Given the description of an element on the screen output the (x, y) to click on. 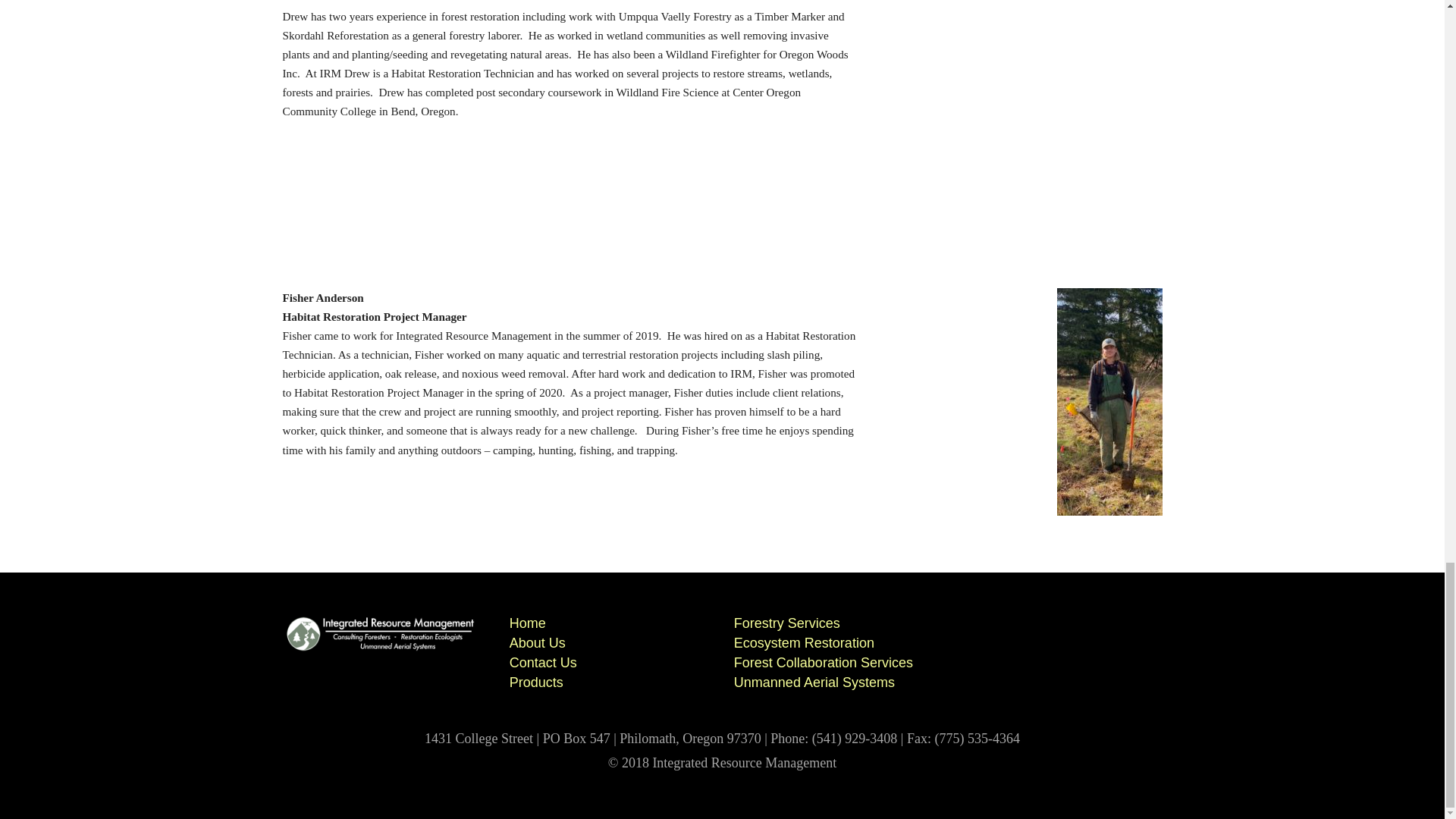
Integrated Resource Management (381, 647)
Integrated Resource Management (381, 633)
